Given the description of an element on the screen output the (x, y) to click on. 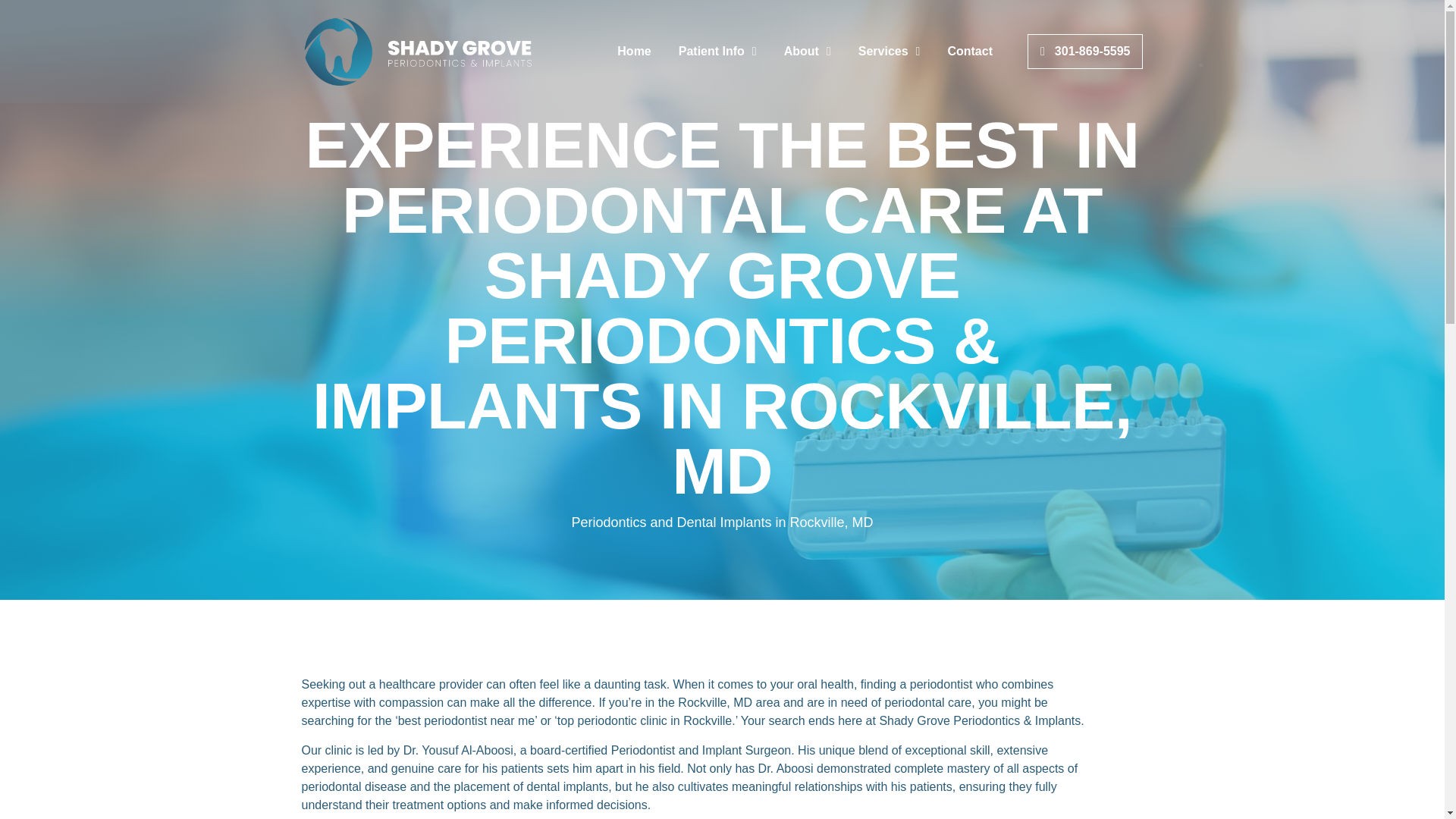
Contact (969, 51)
Patient Info (717, 51)
Services (889, 51)
Home (634, 51)
About (807, 51)
